Given the description of an element on the screen output the (x, y) to click on. 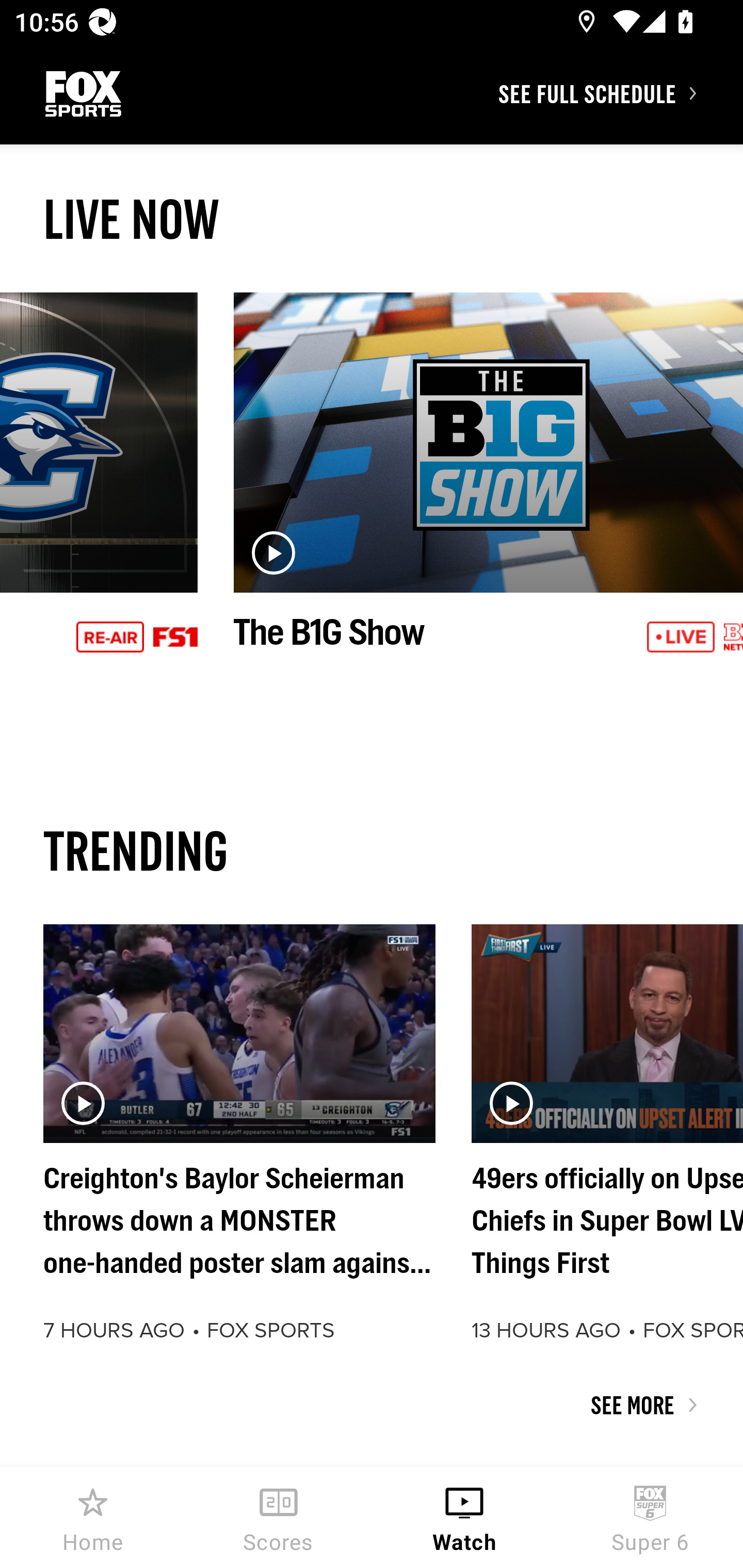
SEE FULL SCHEDULE (620, 93)
LIVE NOW (371, 218)
The B1G Show (488, 494)
TRENDING (371, 850)
SEE MORE (371, 1404)
Home (92, 1517)
Scores (278, 1517)
Super 6 (650, 1517)
